Given the description of an element on the screen output the (x, y) to click on. 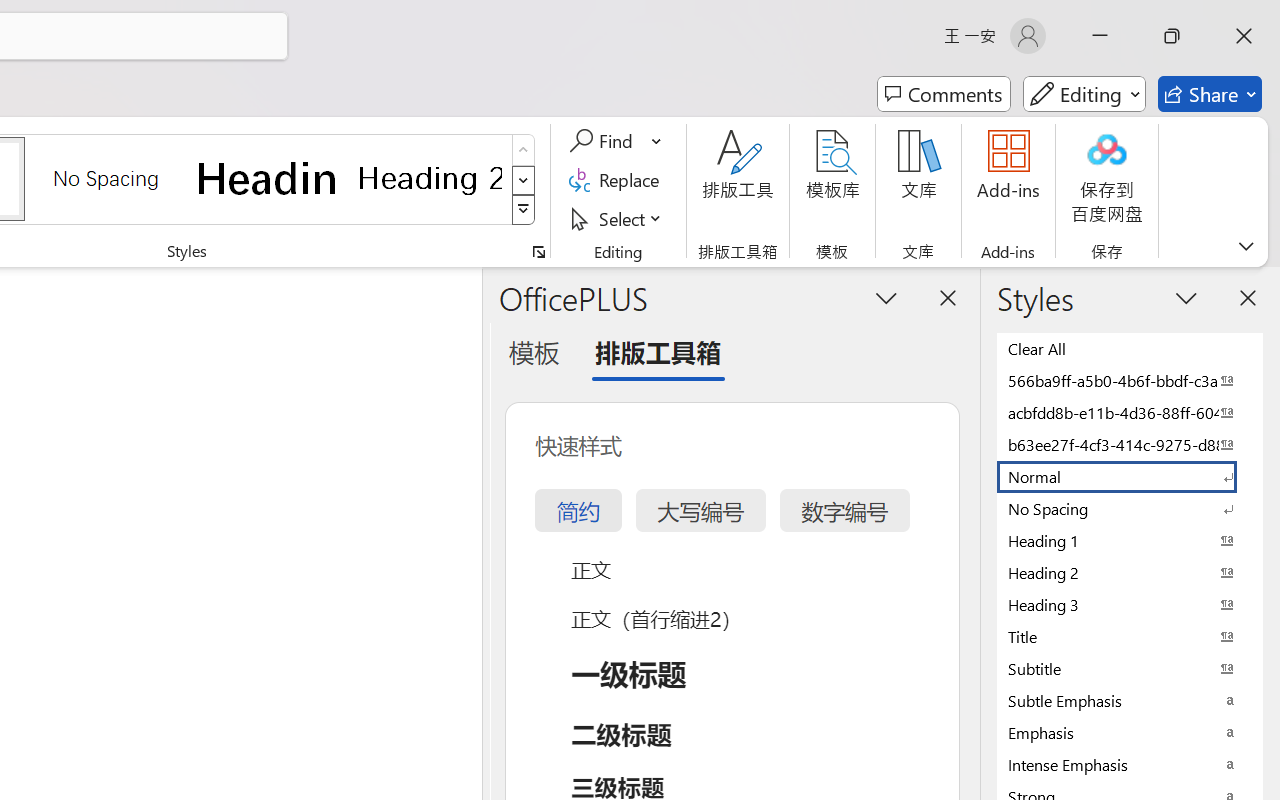
Share (1210, 94)
Clear All (1130, 348)
Title (1130, 636)
Emphasis (1130, 732)
Replace... (617, 179)
acbfdd8b-e11b-4d36-88ff-6049b138f862 (1130, 412)
Heading 1 (267, 178)
Heading 2 (429, 178)
Row Down (523, 180)
